Given the description of an element on the screen output the (x, y) to click on. 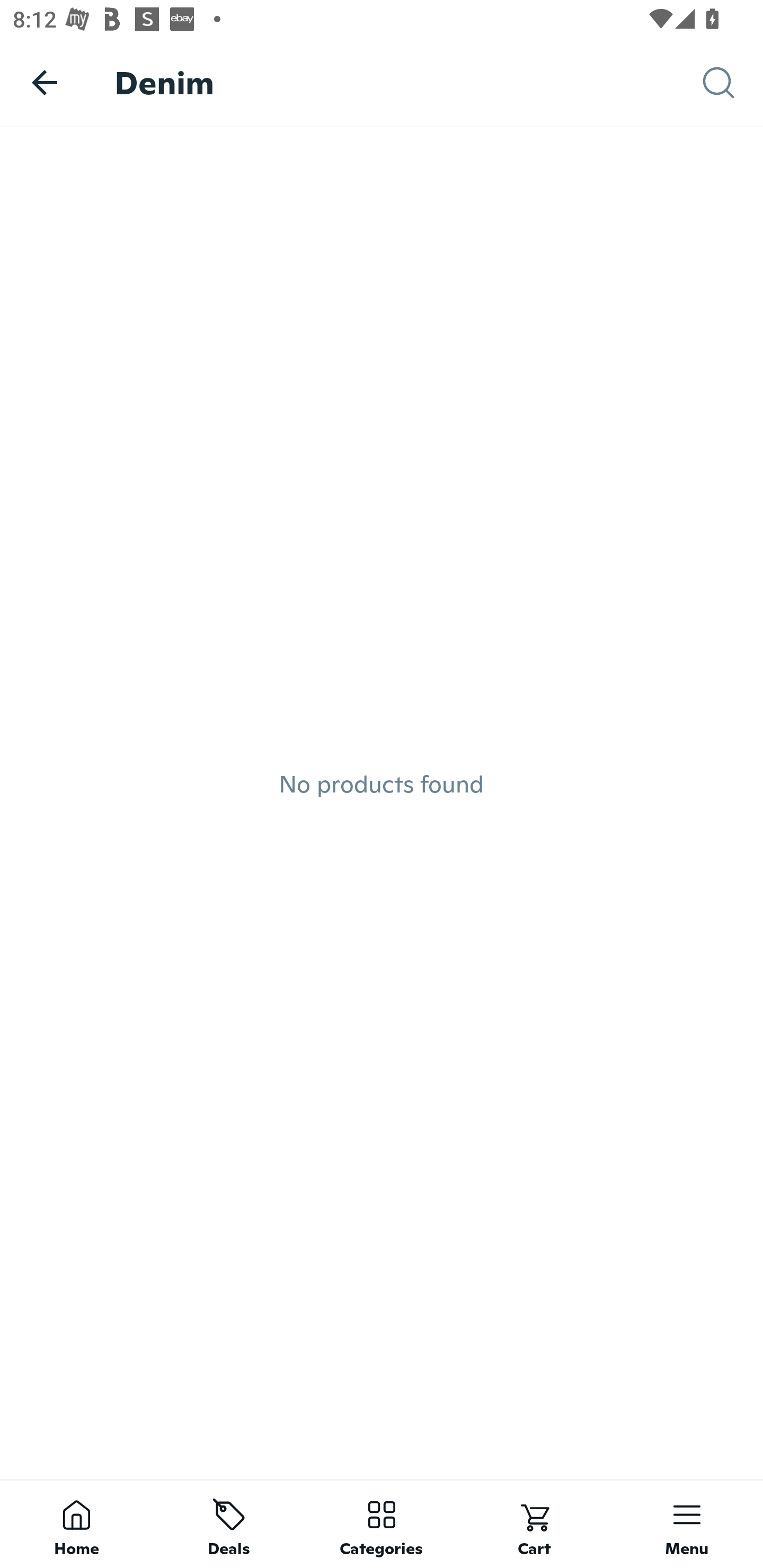
Navigate up (44, 82)
Search (732, 82)
Home (76, 1523)
Deals (228, 1523)
Categories (381, 1523)
Cart (533, 1523)
Menu (686, 1523)
